Given the description of an element on the screen output the (x, y) to click on. 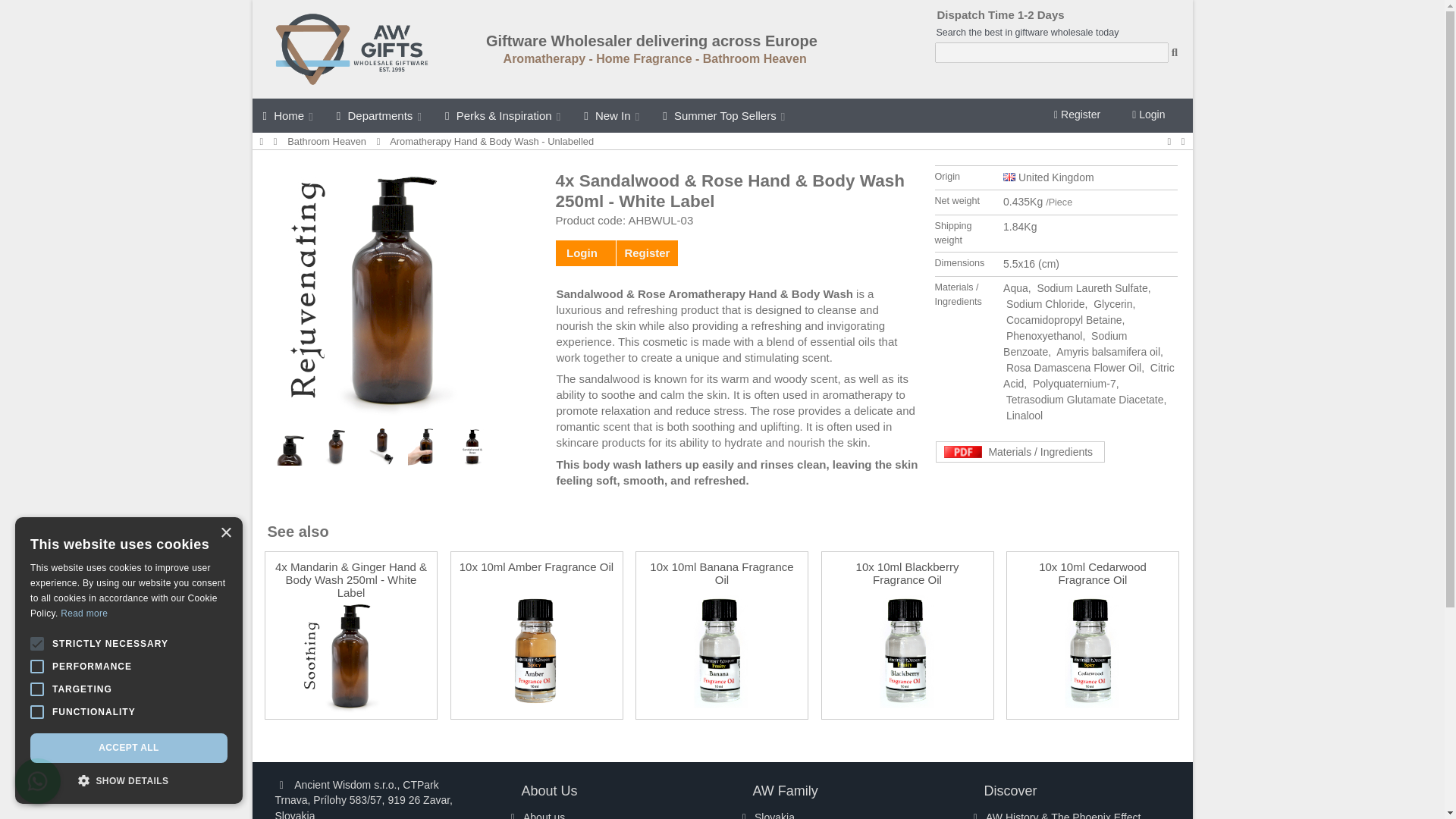
Home (261, 141)
Home (287, 115)
GBR (1008, 176)
Departments (379, 115)
Register (1077, 114)
Login (1147, 114)
Opens a widget where you can chat to one of our agents (1389, 792)
Summer Top Sellers (724, 115)
New In (612, 115)
